Given the description of an element on the screen output the (x, y) to click on. 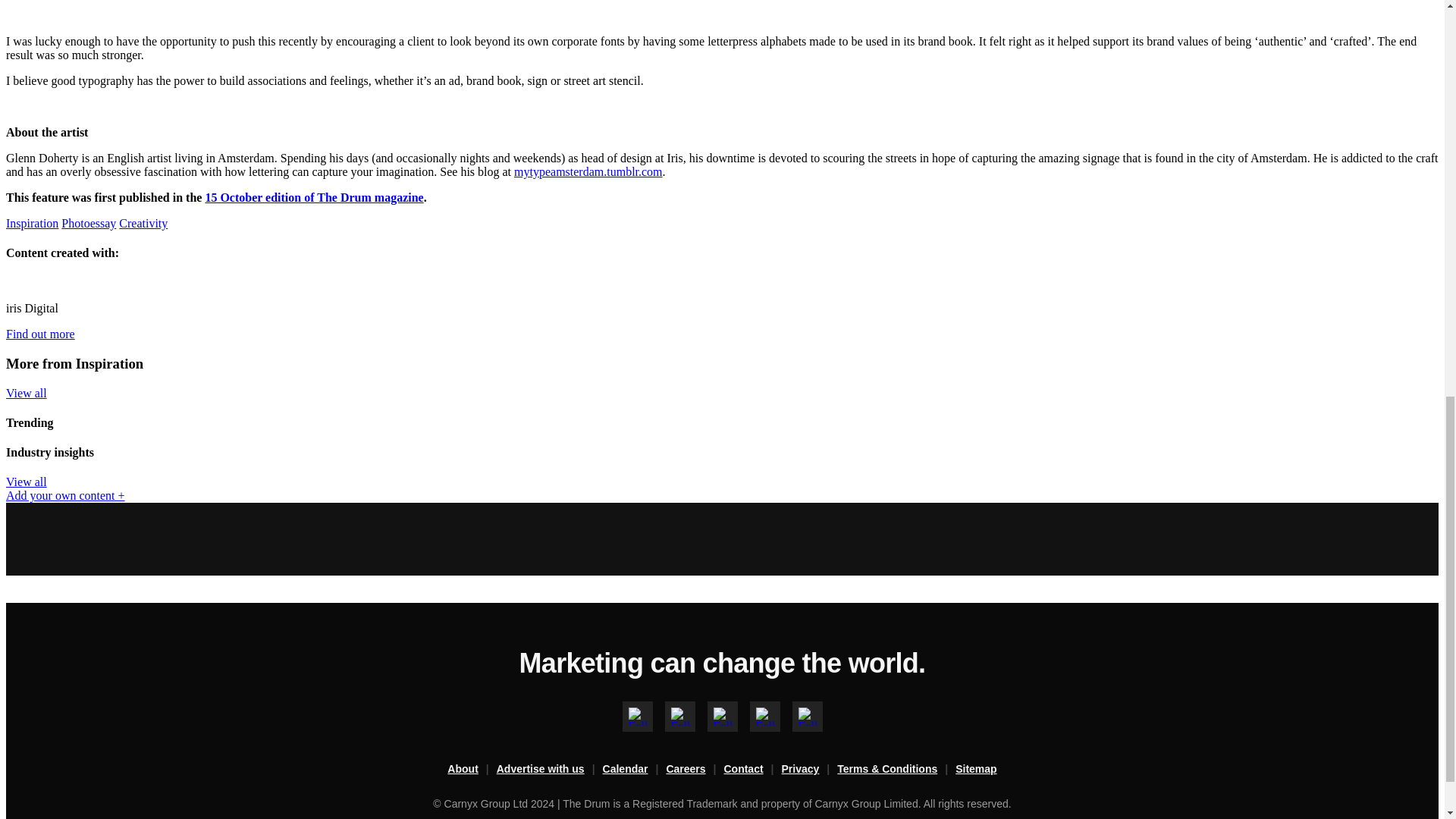
Inspiration (370, 366)
Creativity (525, 366)
15 October edition of The Drum magazine (557, 301)
Find out more (480, 501)
View all (773, 611)
mytypeamsterdam.tumblr.com (592, 254)
Photoessay (449, 366)
